Given the description of an element on the screen output the (x, y) to click on. 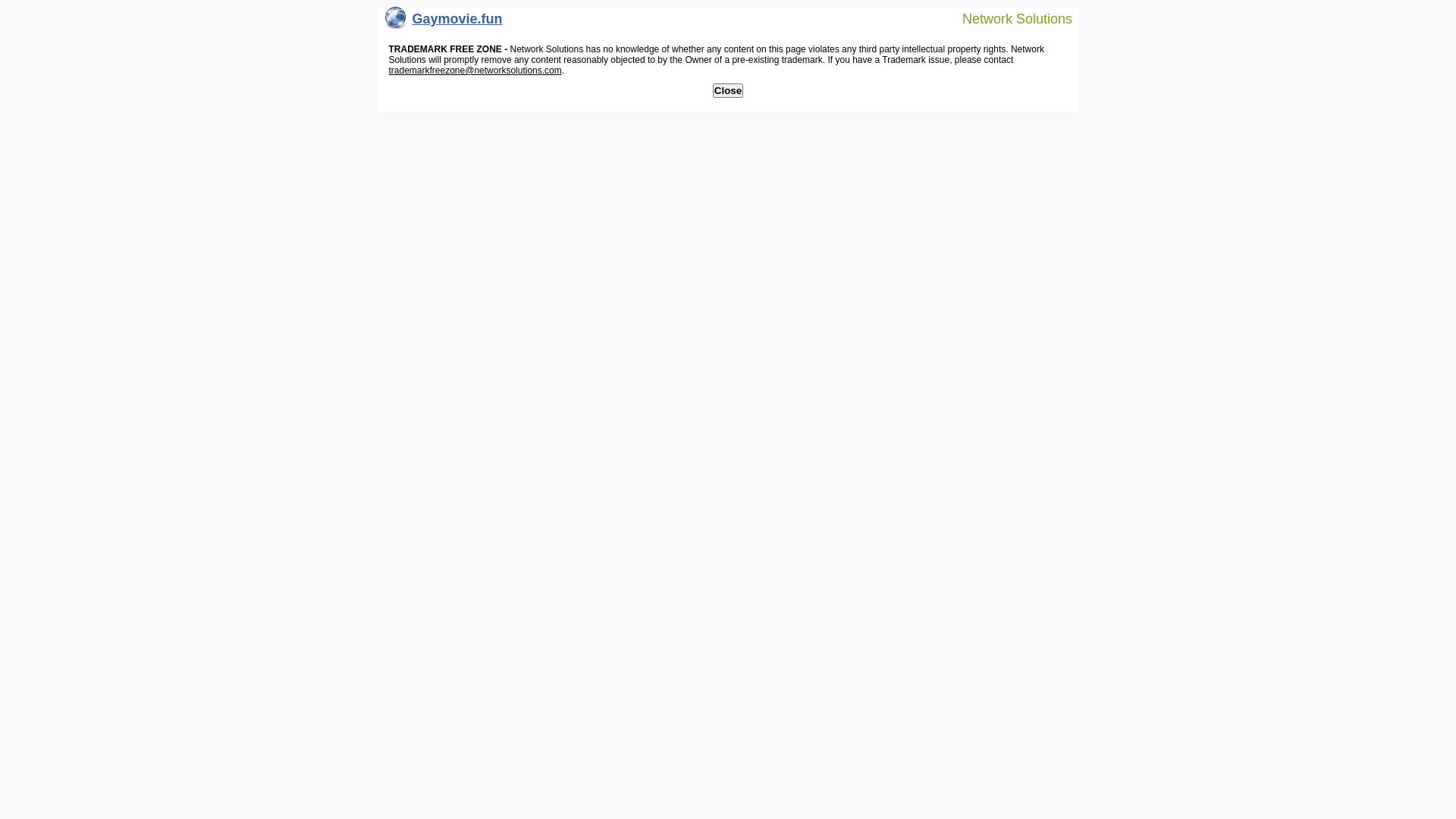
Network Solutions Element type: text (1007, 17)
trademarkfreezone@networksolutions.com Element type: text (474, 70)
Gaymovie.fun Element type: text (443, 21)
Close Element type: text (727, 90)
